Given the description of an element on the screen output the (x, y) to click on. 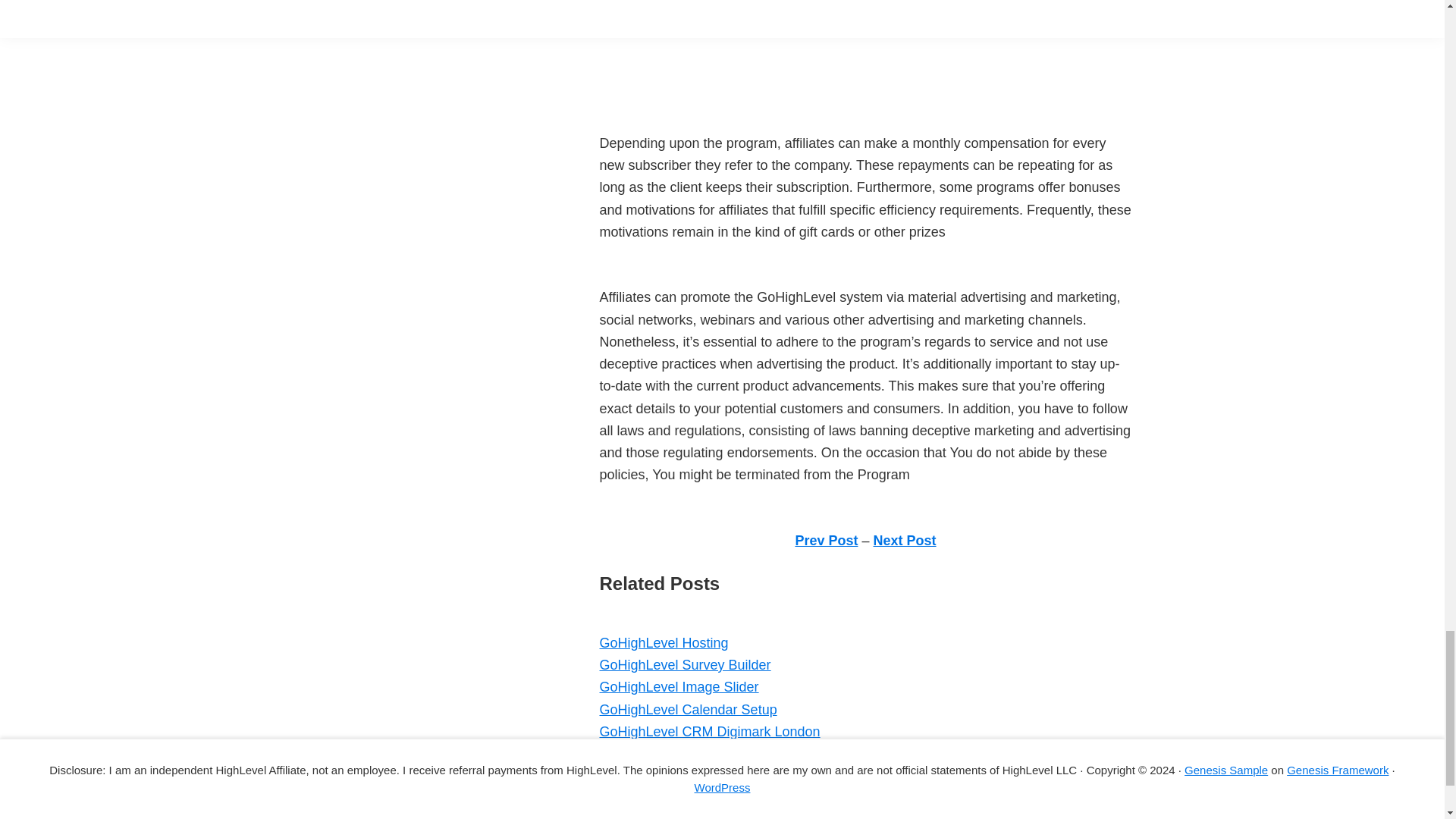
GoHighLevel Competitors (676, 798)
GoHighLevel Survey Builder (684, 664)
GoHighLevel Calendar Setup (687, 709)
Next Post (904, 540)
GoHighLevel Roadmap (669, 816)
GoHighLevel Roadmap (669, 816)
GoHighLevel Hosting (663, 642)
GoHighLevel Image Slider (678, 686)
GoHighLevel Survey Builder (684, 664)
GoHighLevel Calendar Setup (687, 709)
